Given the description of an element on the screen output the (x, y) to click on. 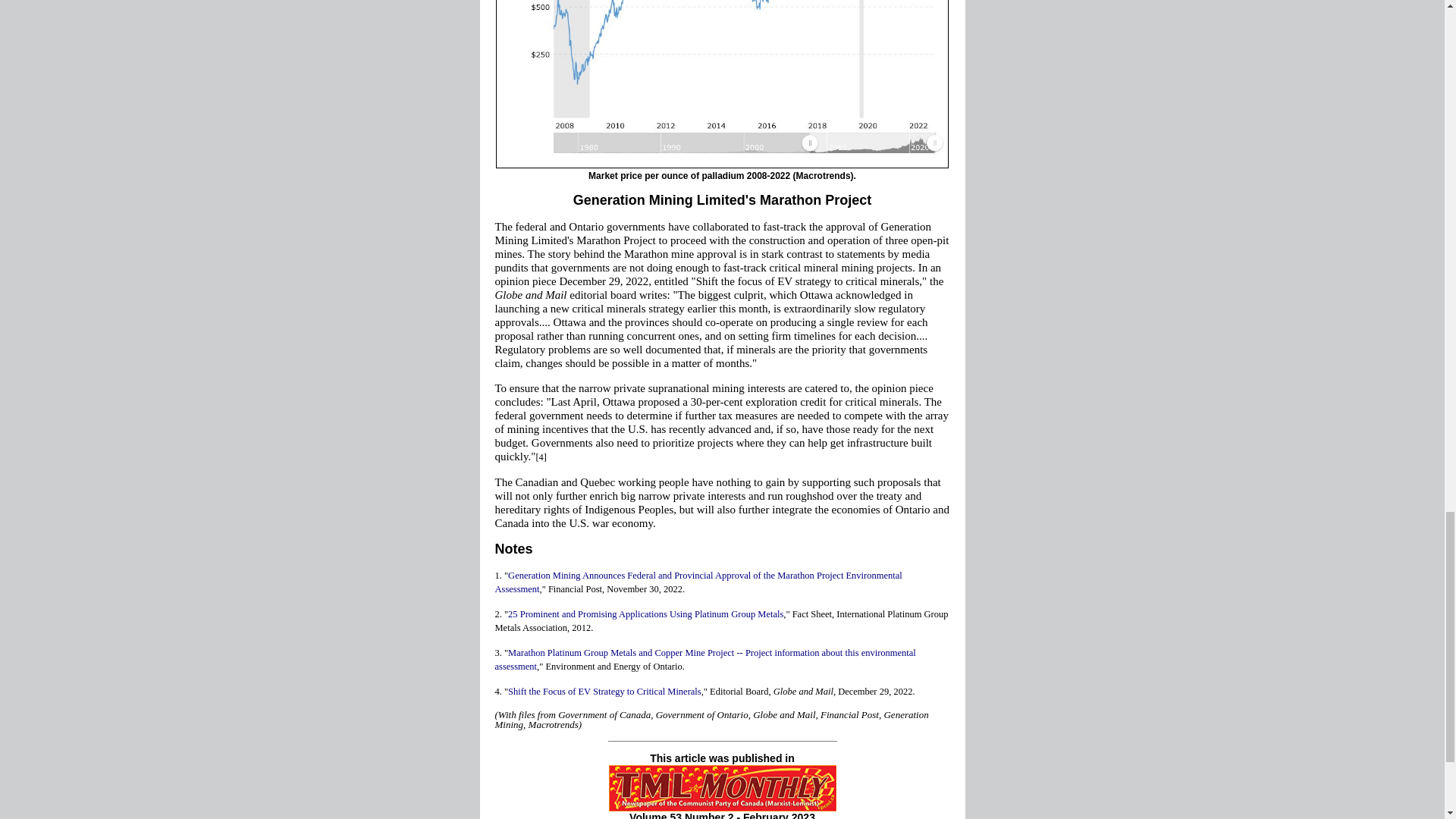
Volume 53 Number 2 - February 2023 (721, 815)
Shift the Focus of EV Strategy to Critical Minerals (604, 691)
